Given the description of an element on the screen output the (x, y) to click on. 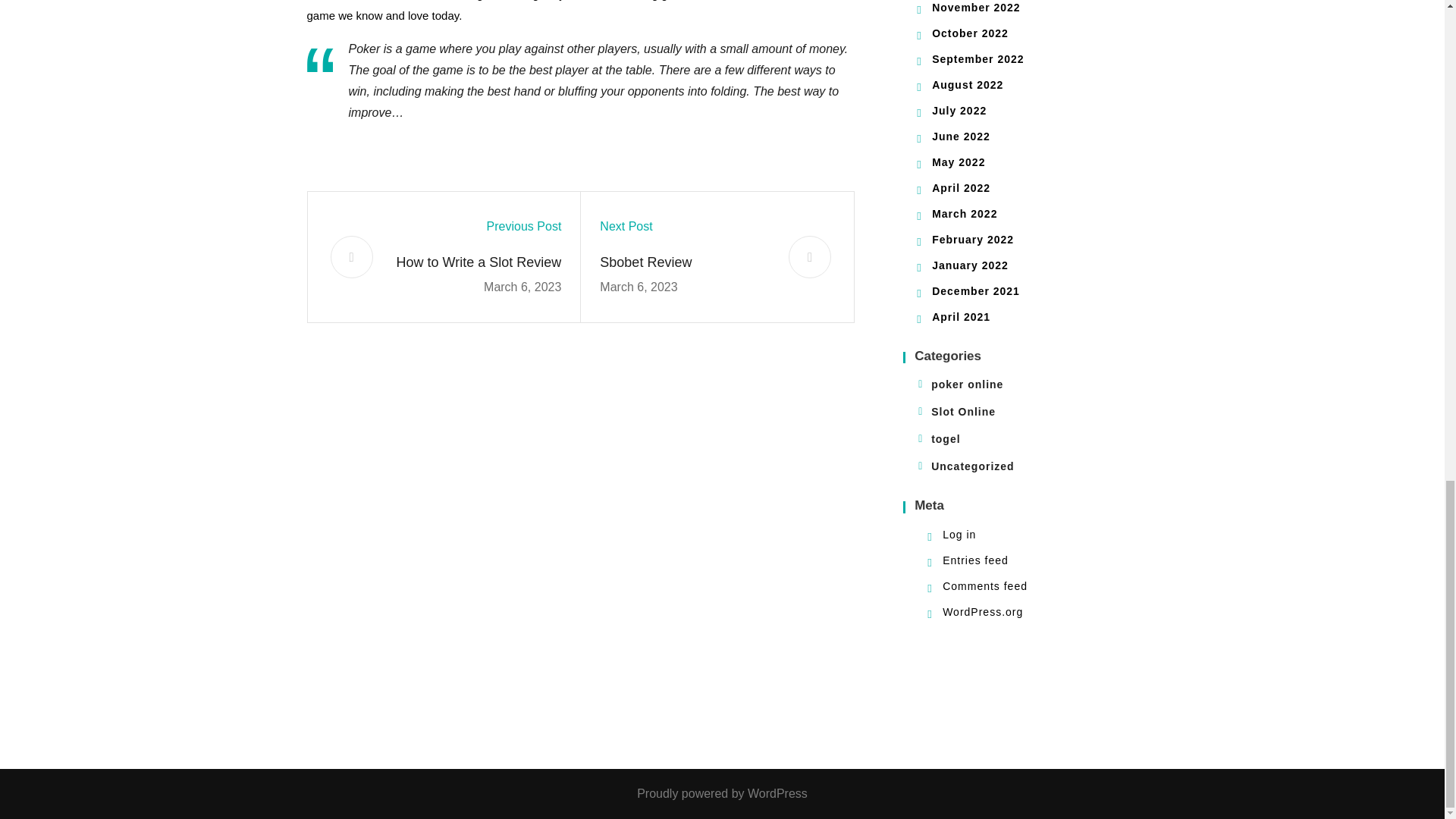
March 6, 2023 (521, 286)
November 2022 (975, 7)
How to Write a Slot Review (475, 262)
Sbobet Review (684, 262)
October 2022 (970, 33)
March 6, 2023 (638, 286)
